Given the description of an element on the screen output the (x, y) to click on. 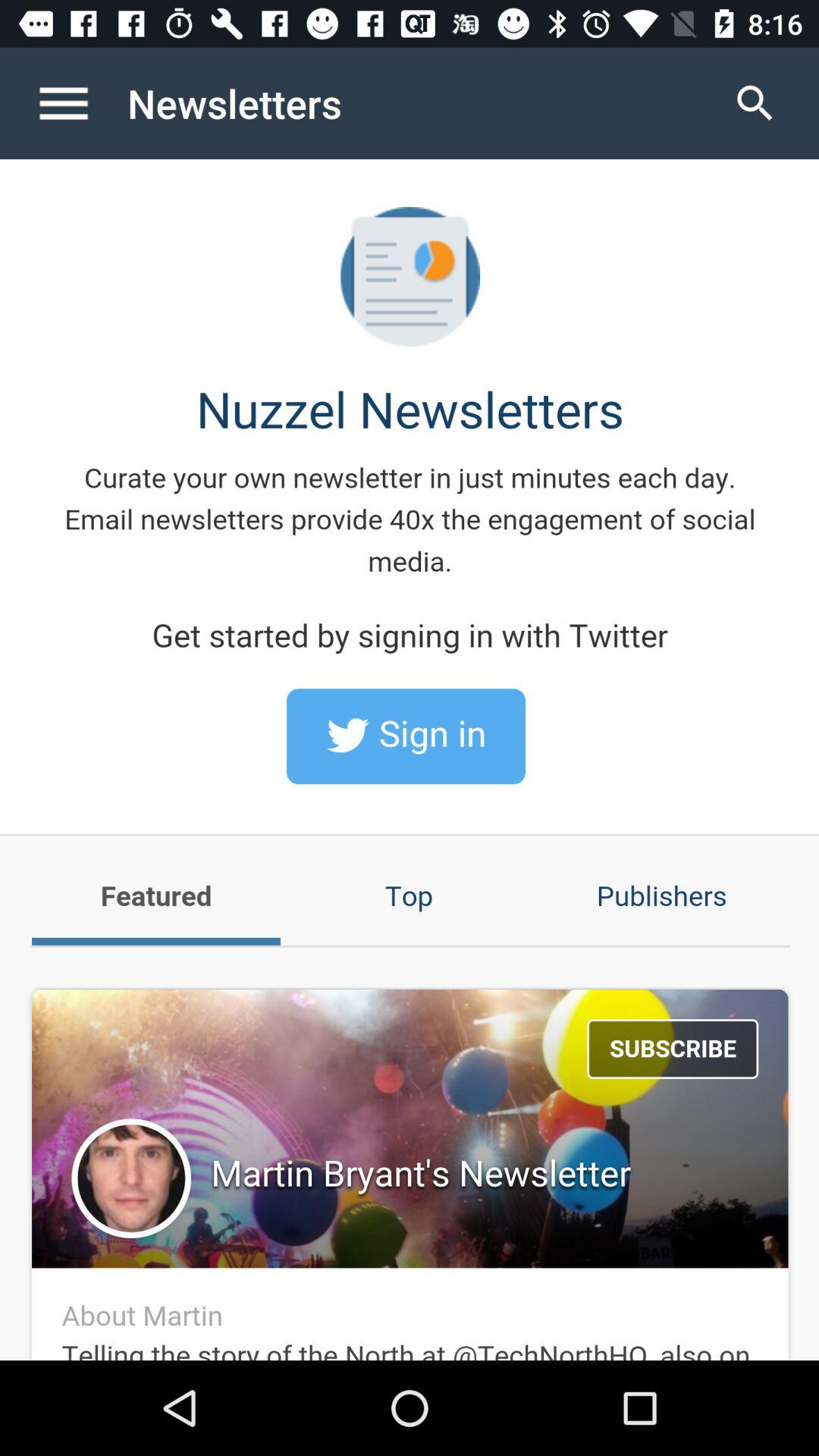
toggle menu (79, 103)
